Given the description of an element on the screen output the (x, y) to click on. 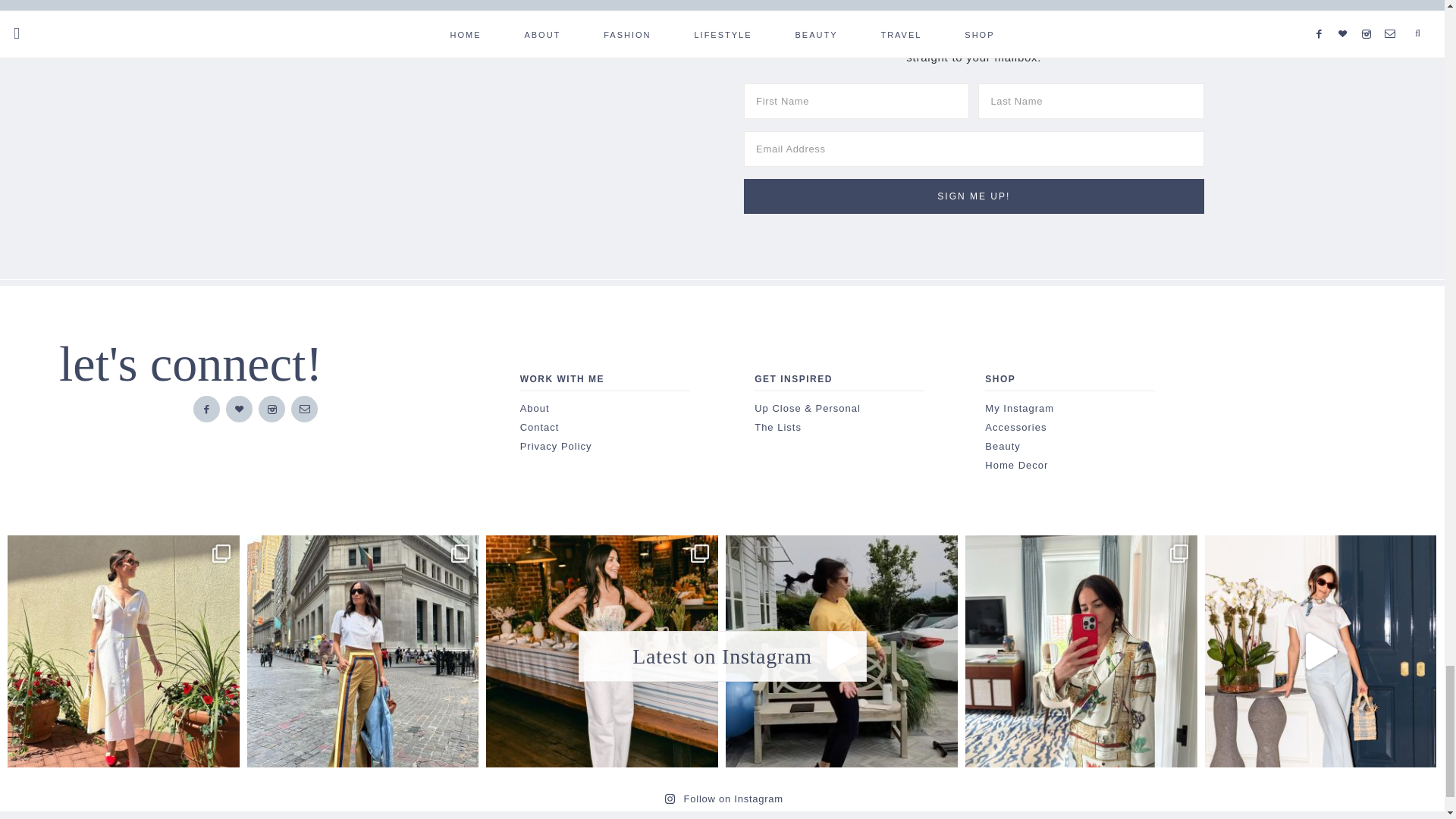
Sign Me Up! (974, 196)
